Given the description of an element on the screen output the (x, y) to click on. 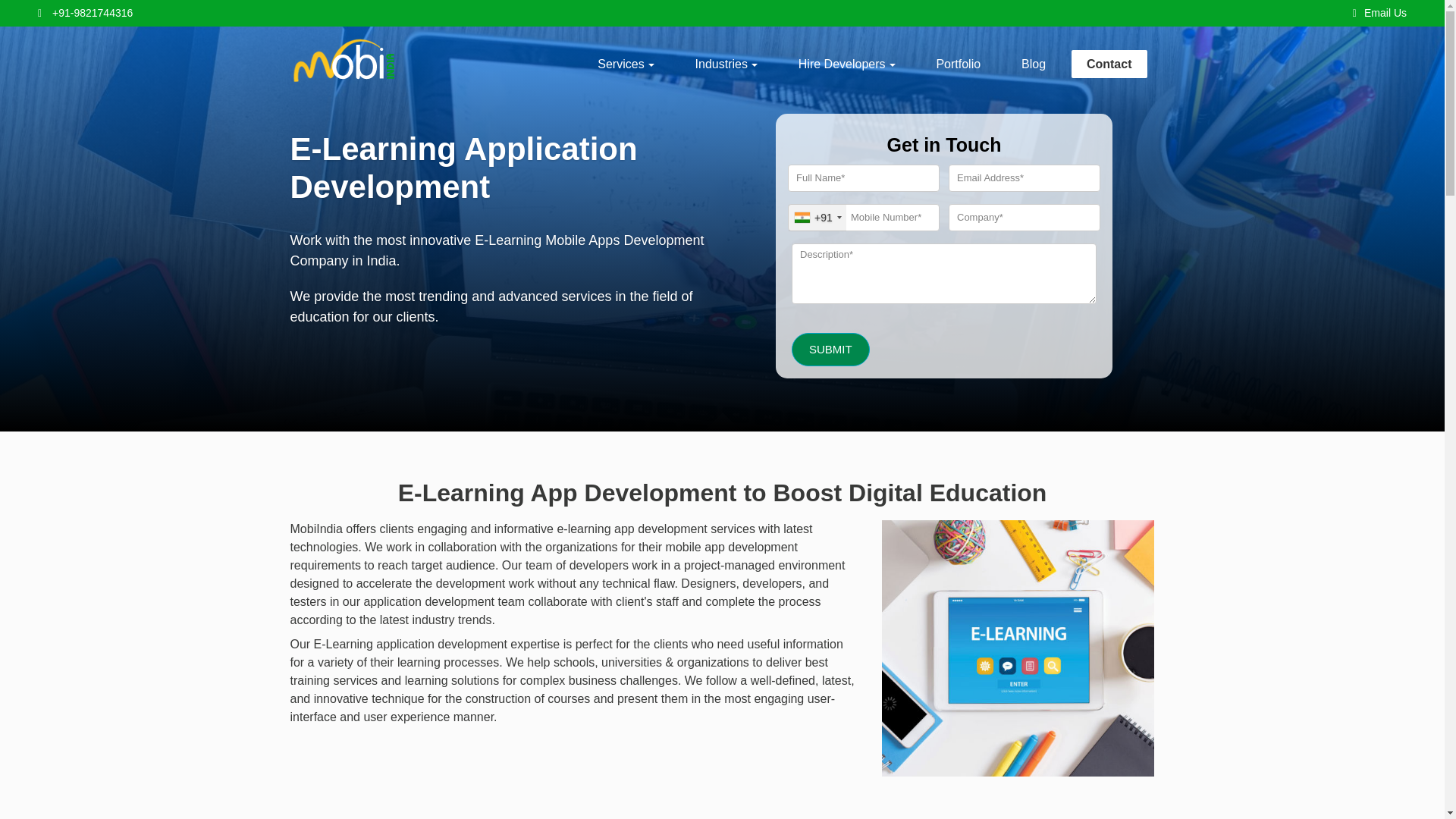
Submit (830, 348)
Submit (830, 348)
